Given the description of an element on the screen output the (x, y) to click on. 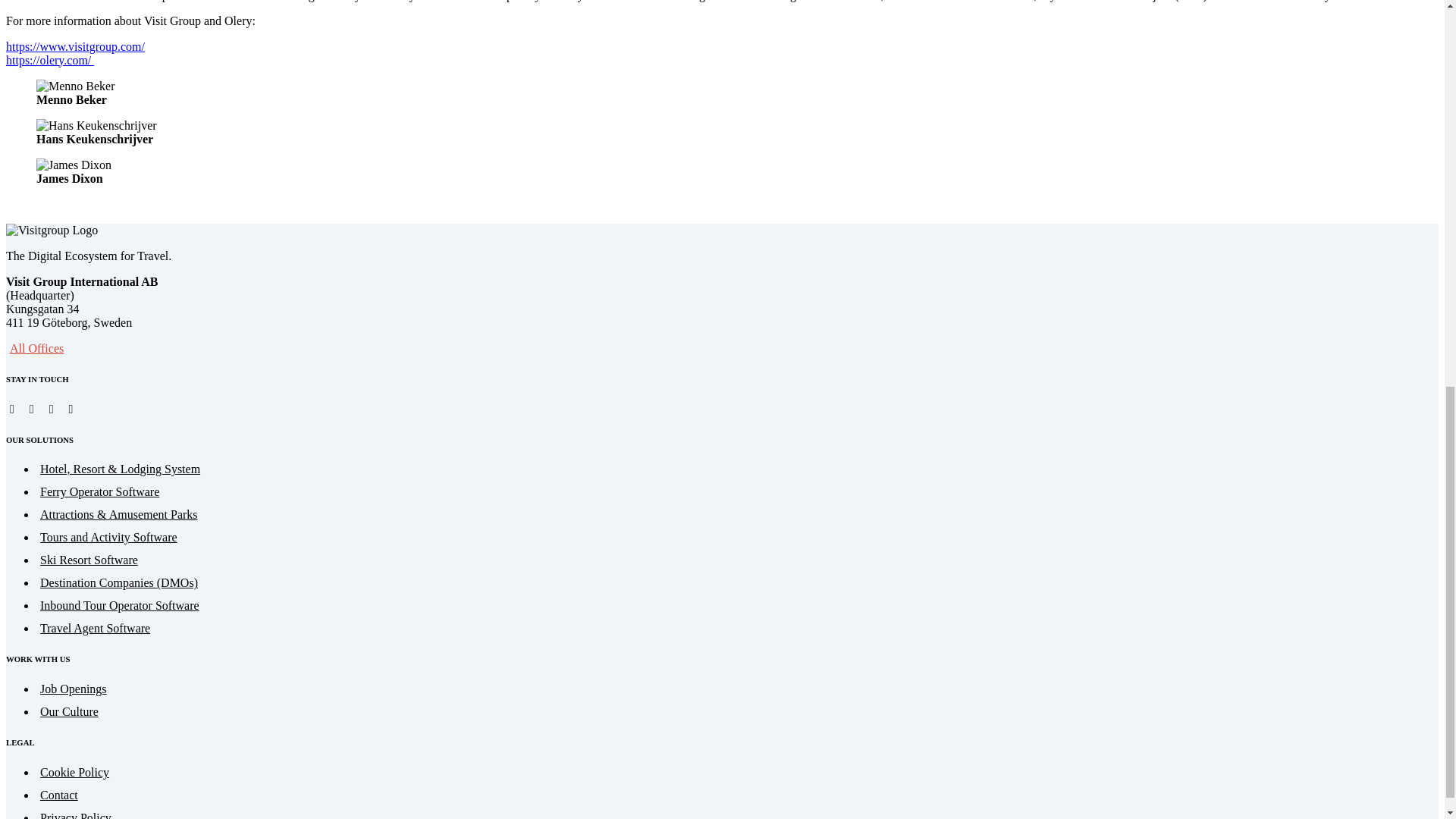
All Offices (35, 348)
